Given the description of an element on the screen output the (x, y) to click on. 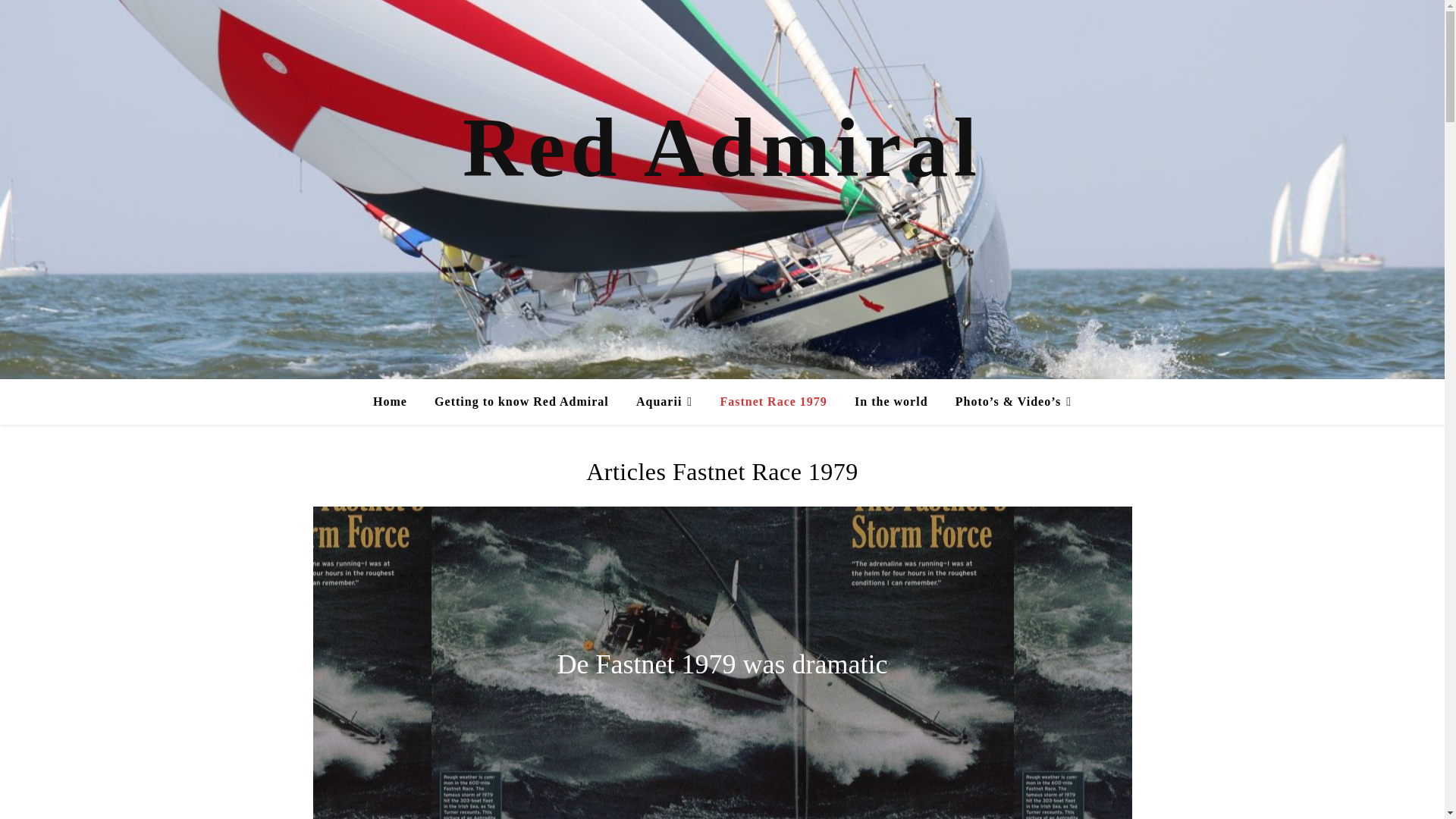
Fastnet Race 1979 (772, 402)
In the world (891, 402)
Getting to know Red Admiral (521, 402)
Aquarii (664, 402)
Home (395, 402)
Red Admiral (722, 147)
